Given the description of an element on the screen output the (x, y) to click on. 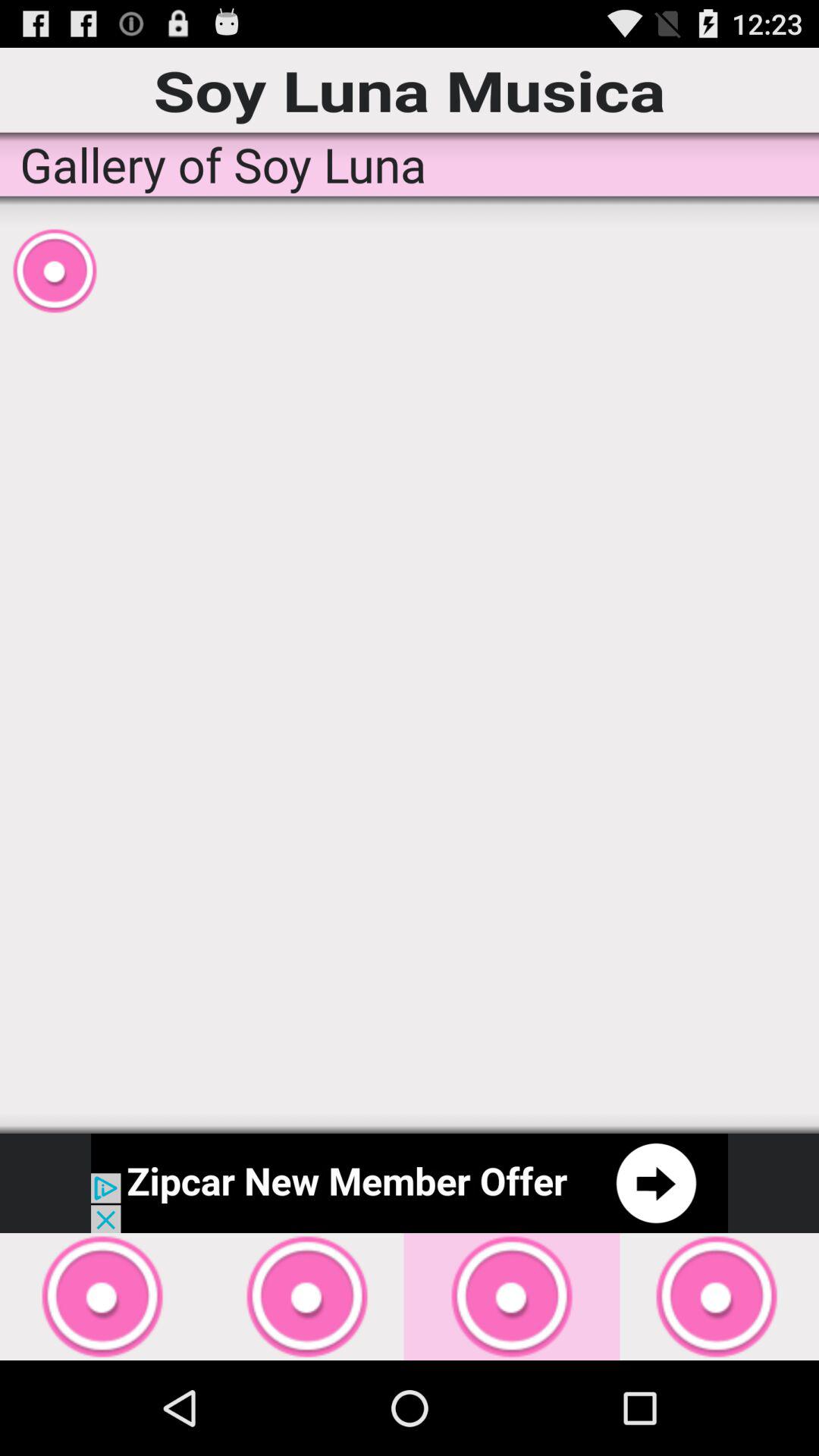
advertisement (409, 1183)
